Given the description of an element on the screen output the (x, y) to click on. 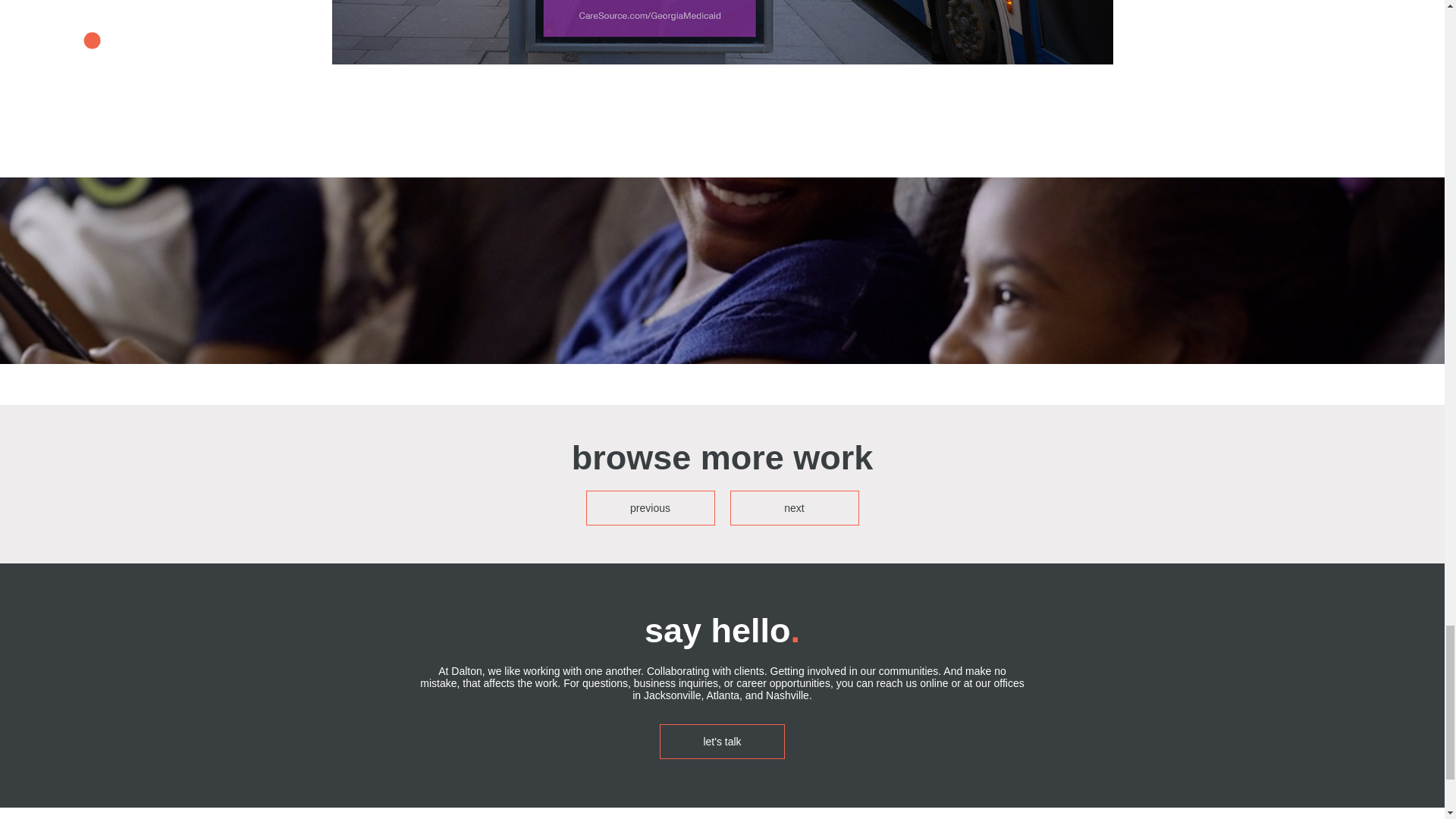
let's talk (721, 741)
previous (649, 507)
next (794, 507)
